Given the description of an element on the screen output the (x, y) to click on. 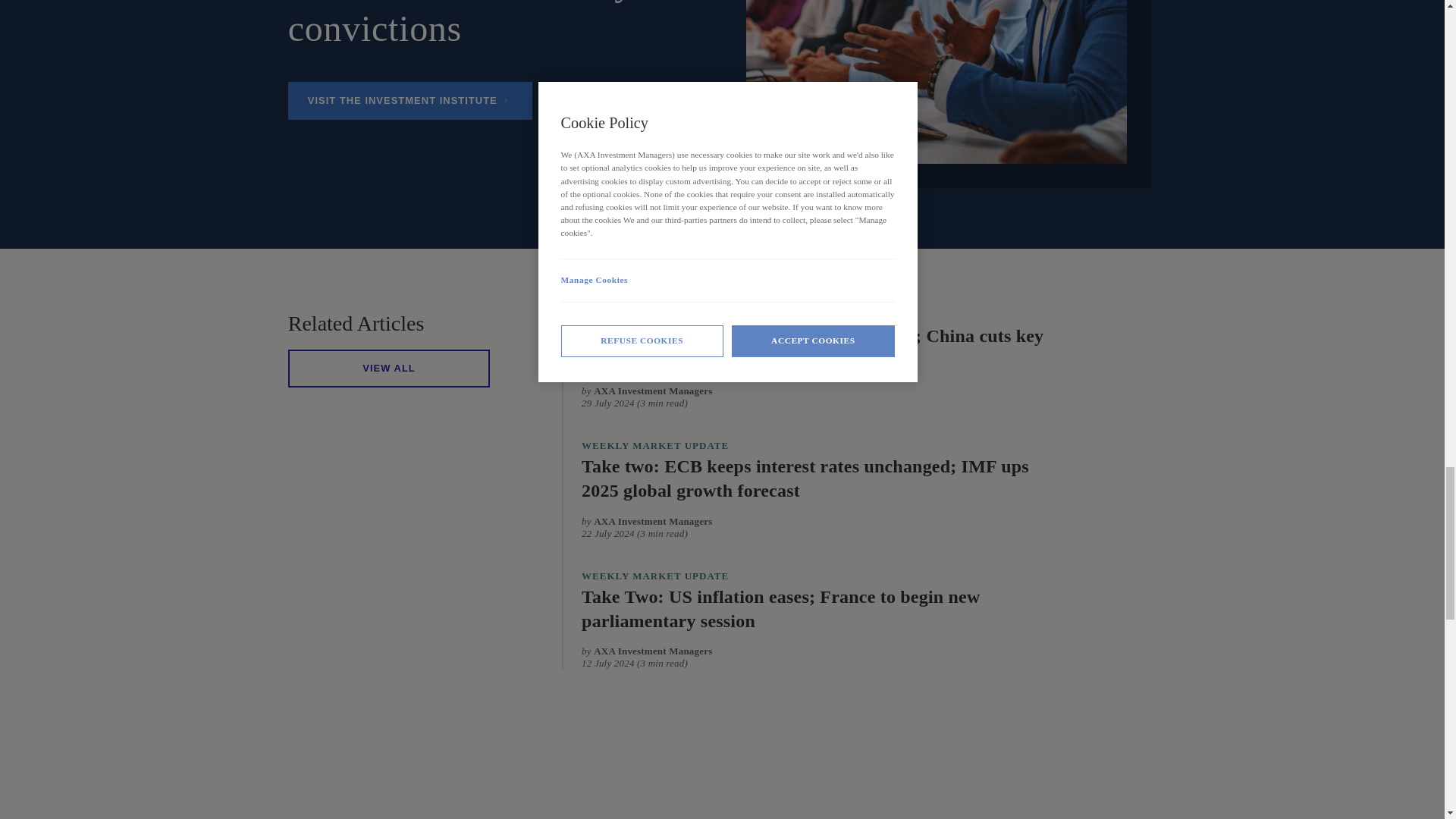
Visit the investment institute (410, 100)
